Given the description of an element on the screen output the (x, y) to click on. 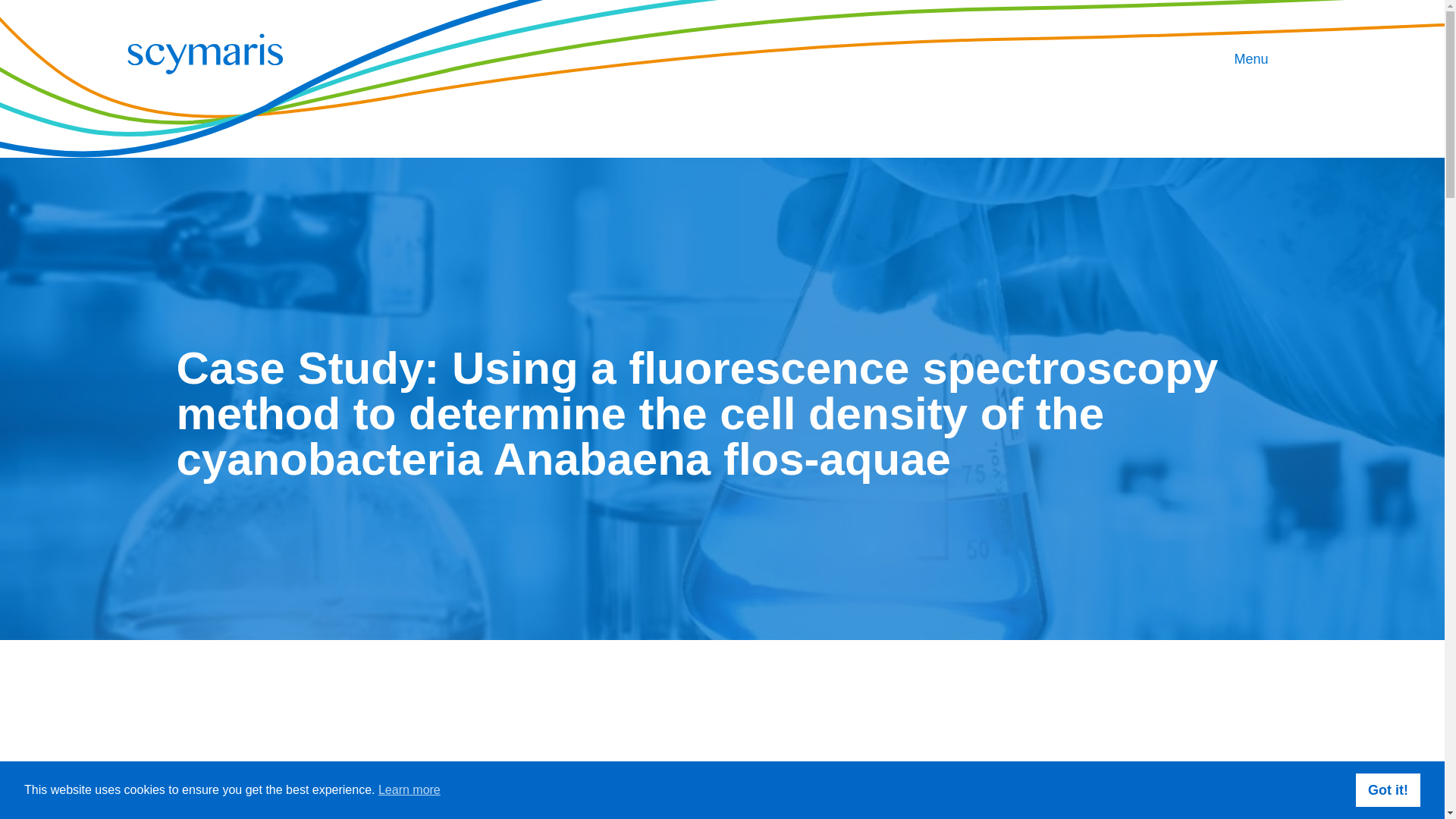
Menu (1250, 58)
